Given the description of an element on the screen output the (x, y) to click on. 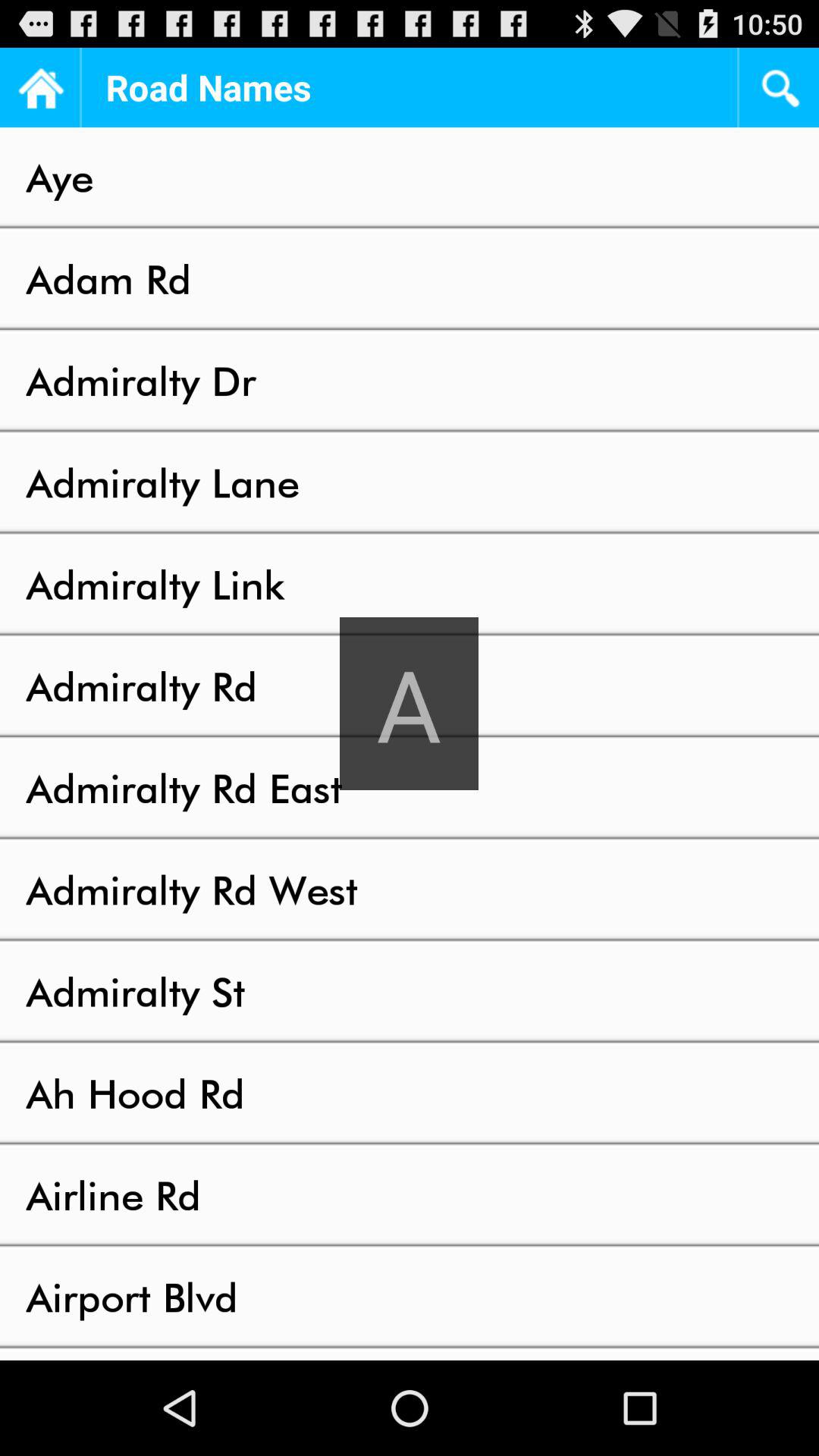
click to the home page (39, 87)
